Given the description of an element on the screen output the (x, y) to click on. 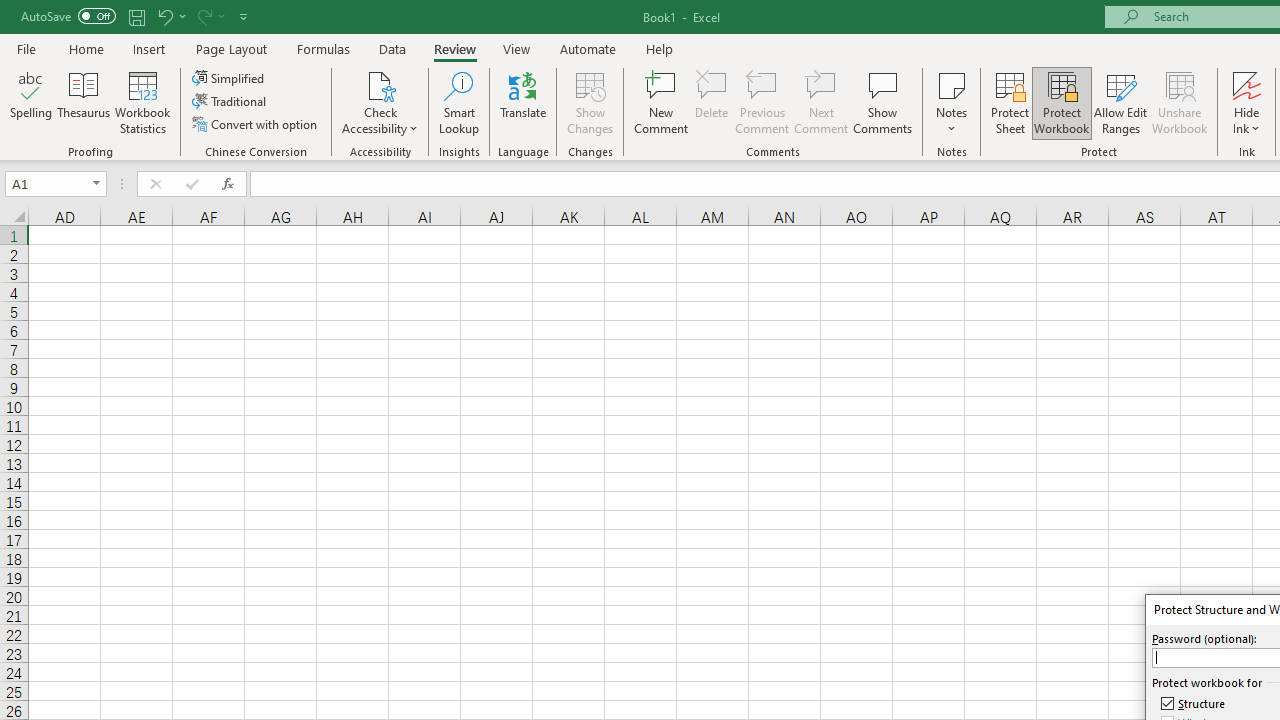
New Comment (661, 102)
Unshare Workbook (1179, 102)
Simplified (230, 78)
Translate (523, 102)
Thesaurus... (83, 102)
Check Accessibility (380, 84)
Spelling... (31, 102)
Previous Comment (762, 102)
